Given the description of an element on the screen output the (x, y) to click on. 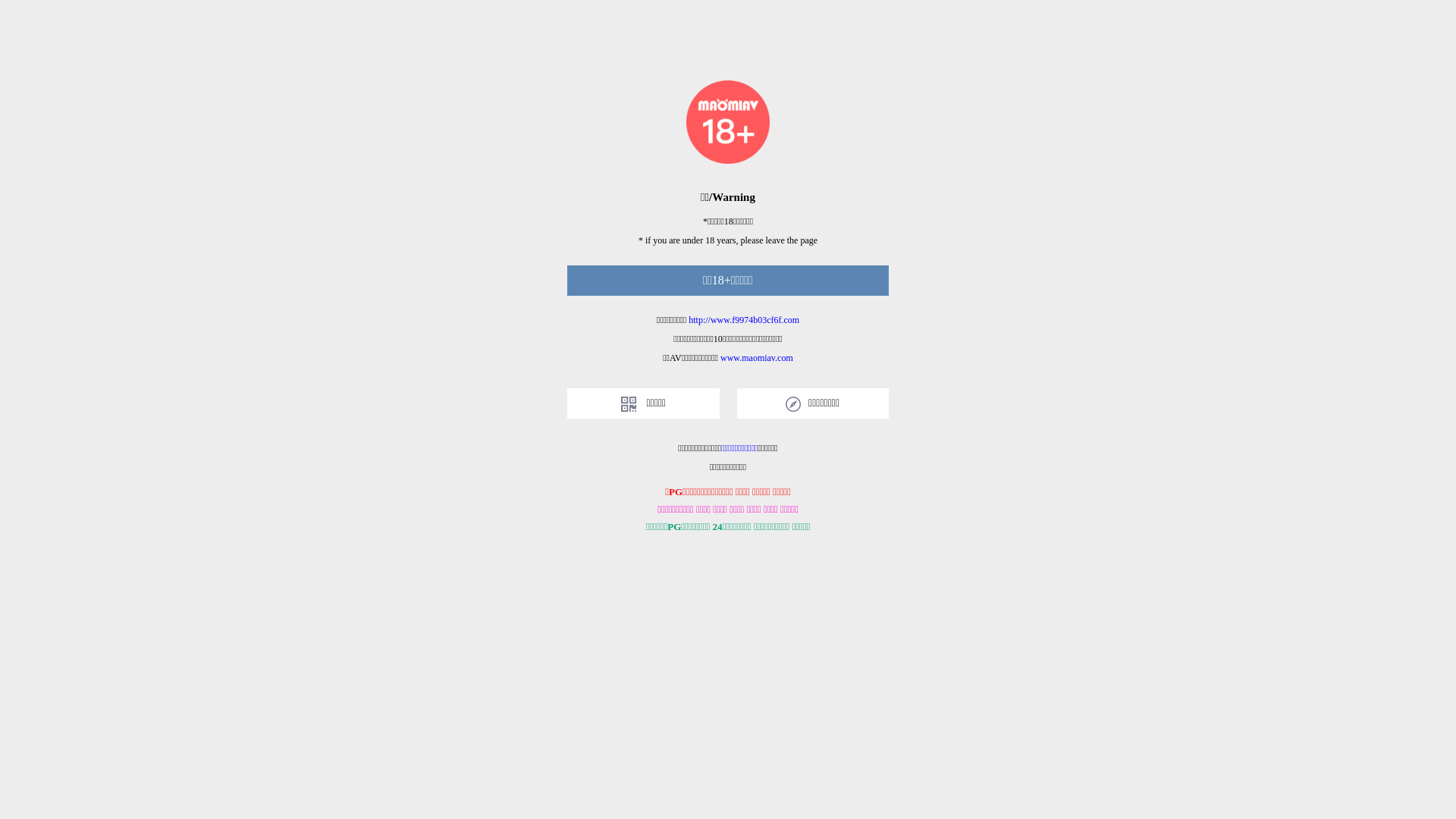
www.maomiav.com Element type: text (756, 357)
http://www.f9974b03cf6f.com Element type: text (743, 319)
